Given the description of an element on the screen output the (x, y) to click on. 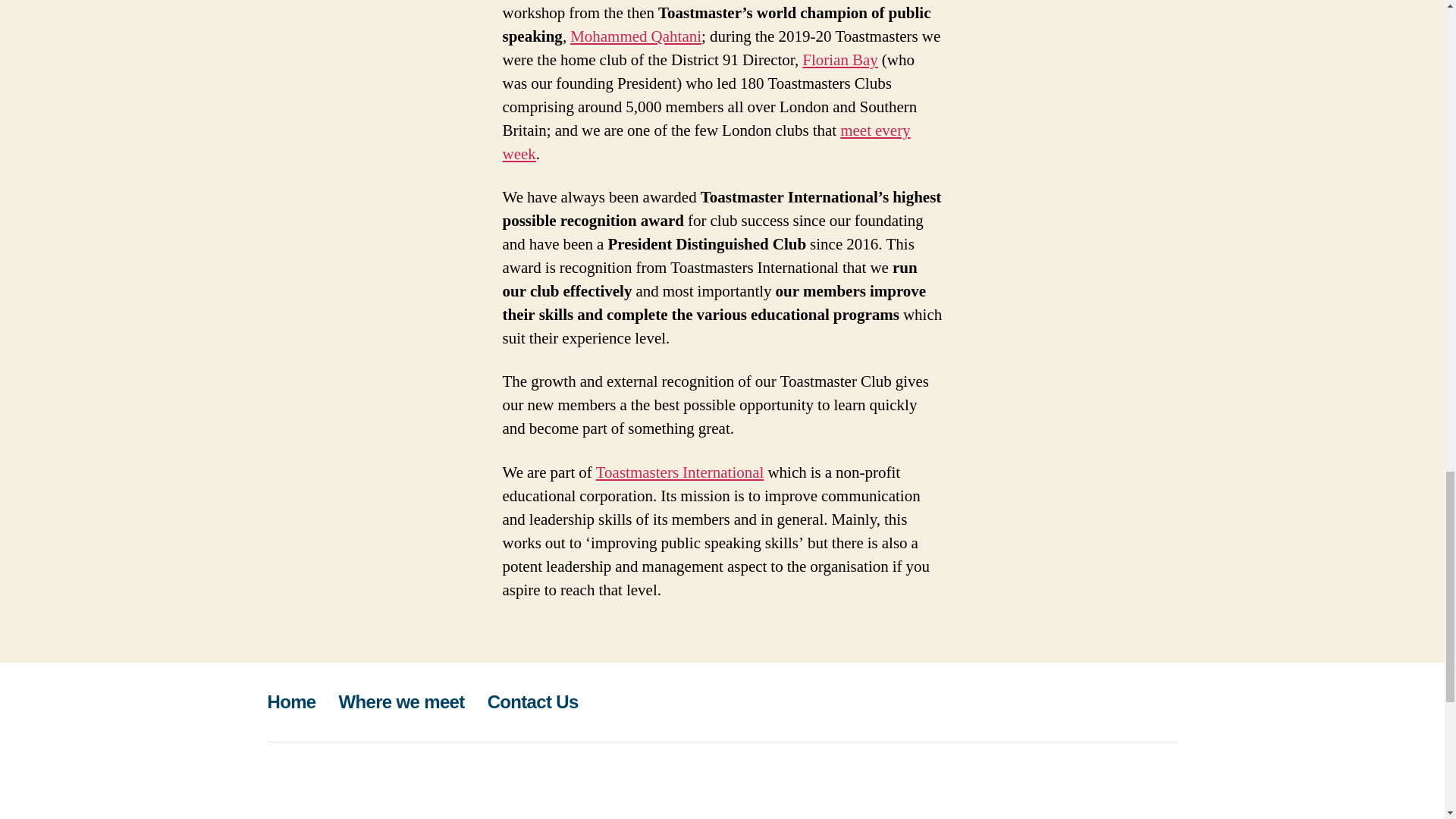
Home (290, 701)
Toastmasters International (679, 472)
meet every week (706, 142)
Toastmasters International (679, 472)
Where we meet (401, 701)
Florian Bay (839, 59)
Contact Us (532, 701)
Mohammed Qahtani (635, 36)
